Given the description of an element on the screen output the (x, y) to click on. 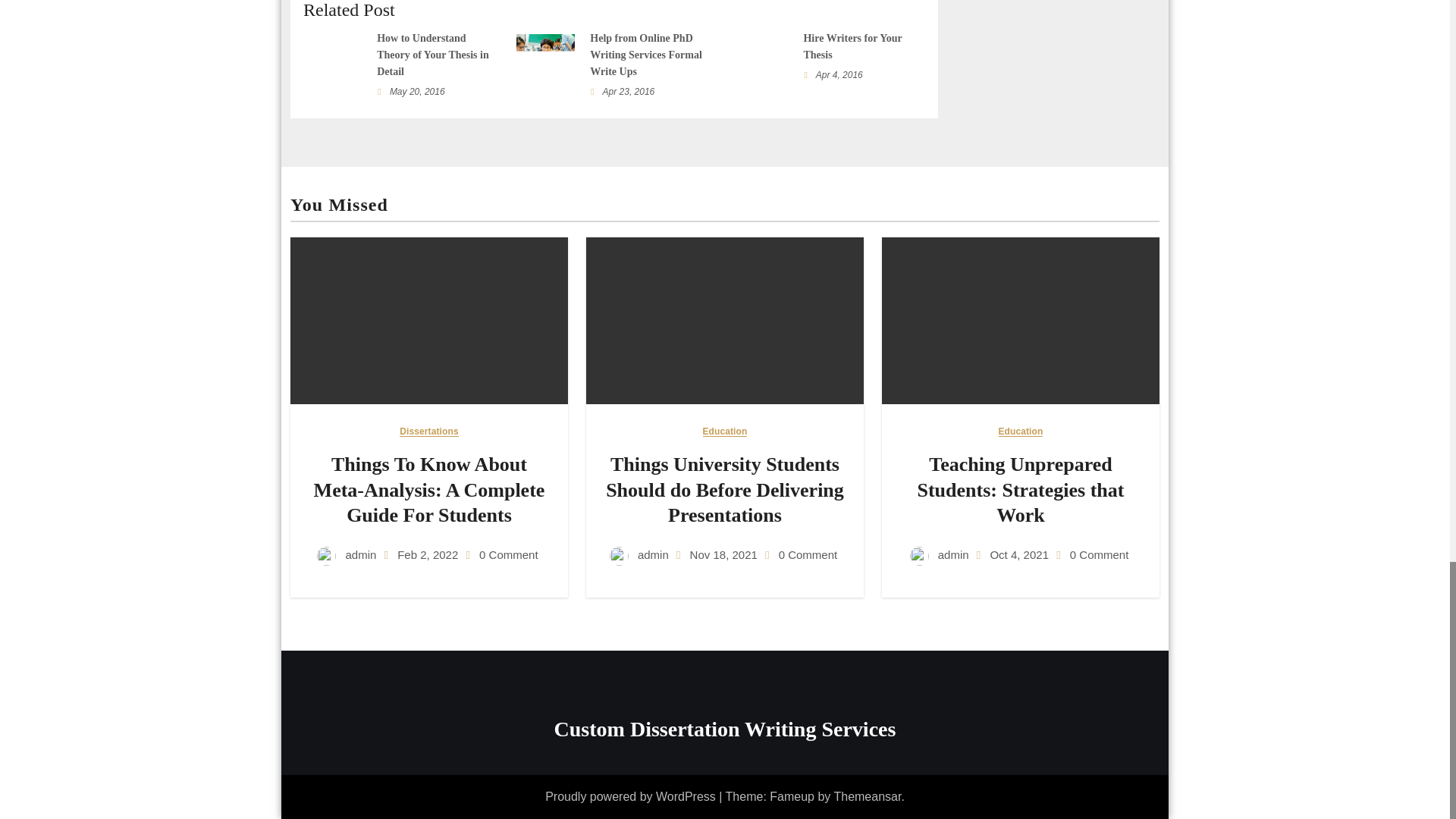
Permalink to: Hire Writers for Your Thesis (852, 46)
